Given the description of an element on the screen output the (x, y) to click on. 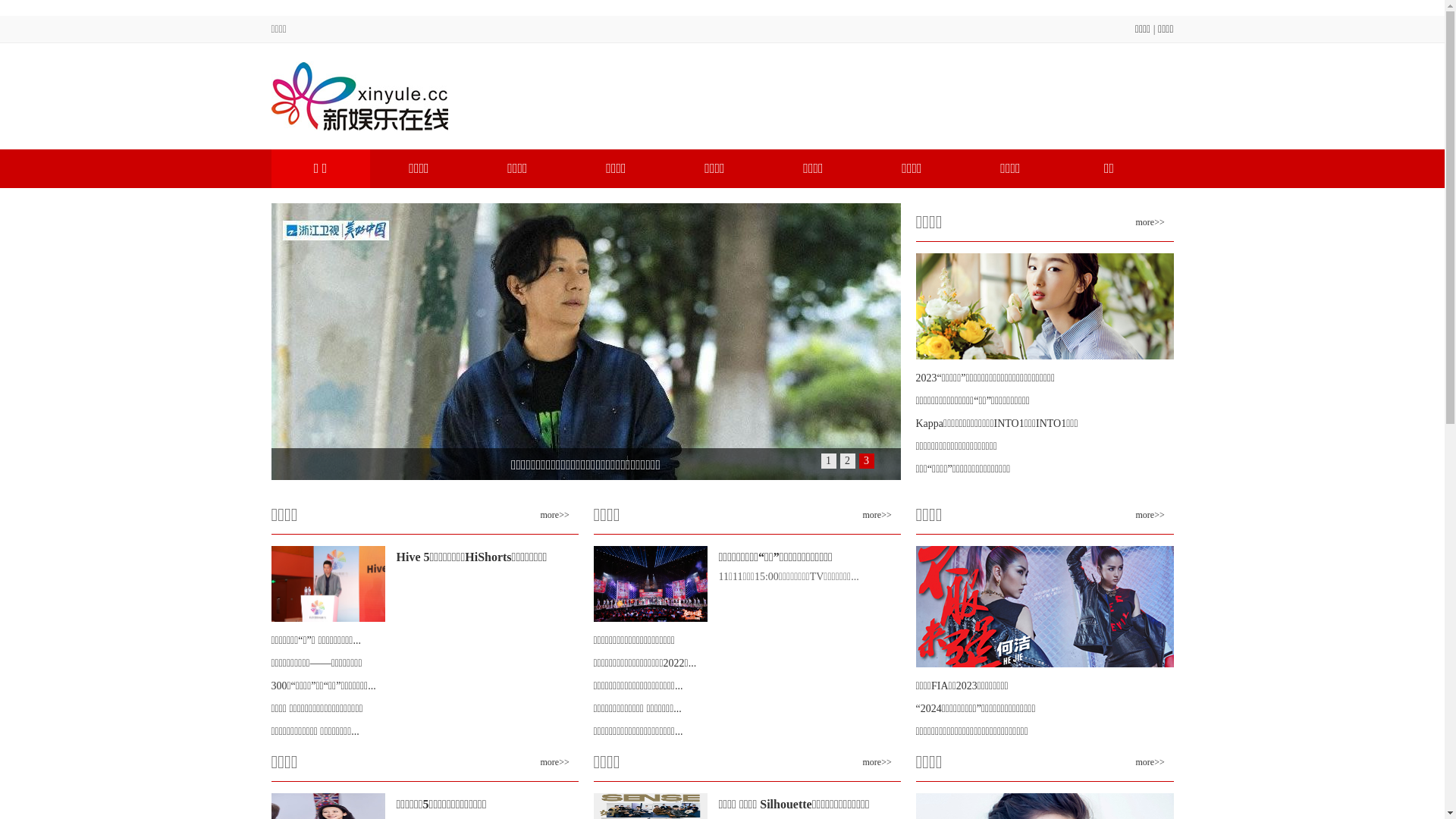
more>> Element type: text (1149, 221)
more>> Element type: text (553, 514)
more>> Element type: text (876, 761)
more>> Element type: text (876, 514)
more>> Element type: text (1149, 761)
more>> Element type: text (1149, 514)
more>> Element type: text (553, 761)
